Given the description of an element on the screen output the (x, y) to click on. 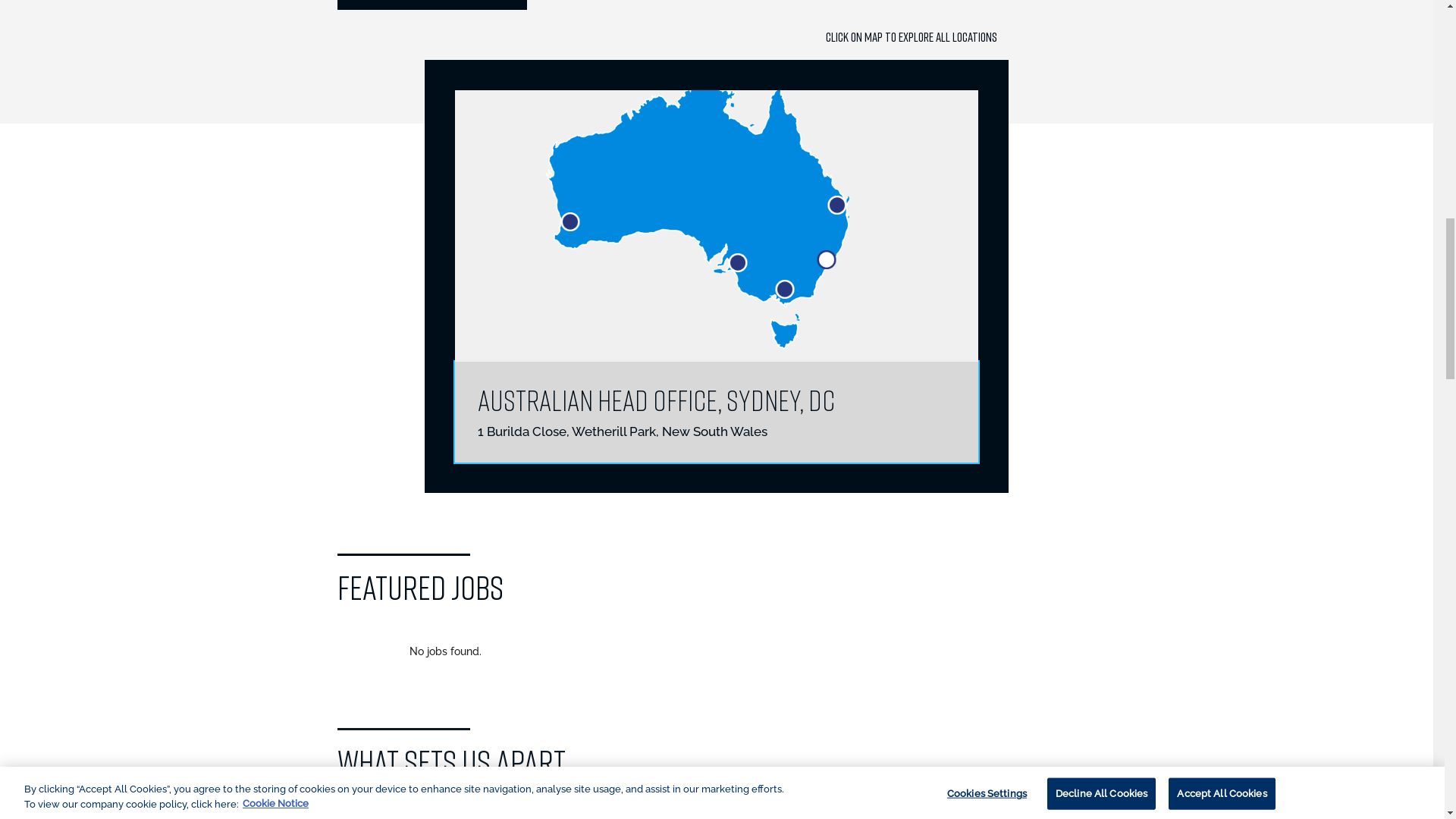
Sign Into Talent Community Element type: text (853, 146)
WHAT SETS US APART Element type: text (1347, 78)
AREAS OF TALENT Element type: text (1159, 78)
ENGLISH Element type: text (1379, 13)
Join Our Talent Community Element type: text (1020, 146)
CURRENT EMPLOYEES Element type: text (1302, 14)
EXPLORE OPPORTUNITIES Element type: text (1328, 574)
Search Element type: text (1393, 145)
LOCATIONS Element type: text (1247, 78)
